Given the description of an element on the screen output the (x, y) to click on. 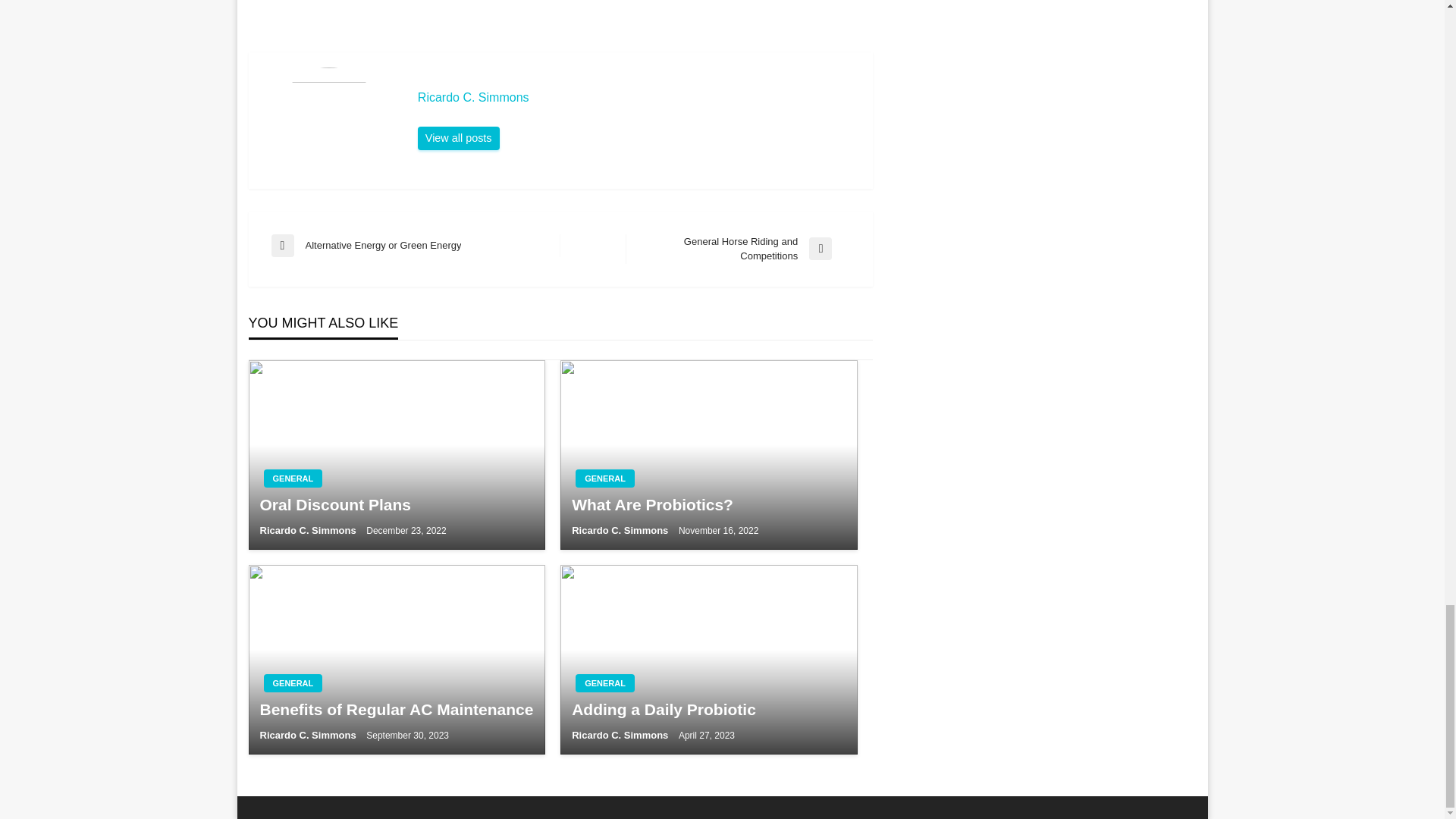
Ricardo C. Simmons (308, 530)
Ricardo C. Simmons (637, 97)
GENERAL (604, 478)
Oral Discount Plans (738, 248)
Ricardo C. Simmons (396, 504)
Ricardo C. Simmons (415, 245)
GENERAL (458, 138)
View all posts (637, 97)
